Given the description of an element on the screen output the (x, y) to click on. 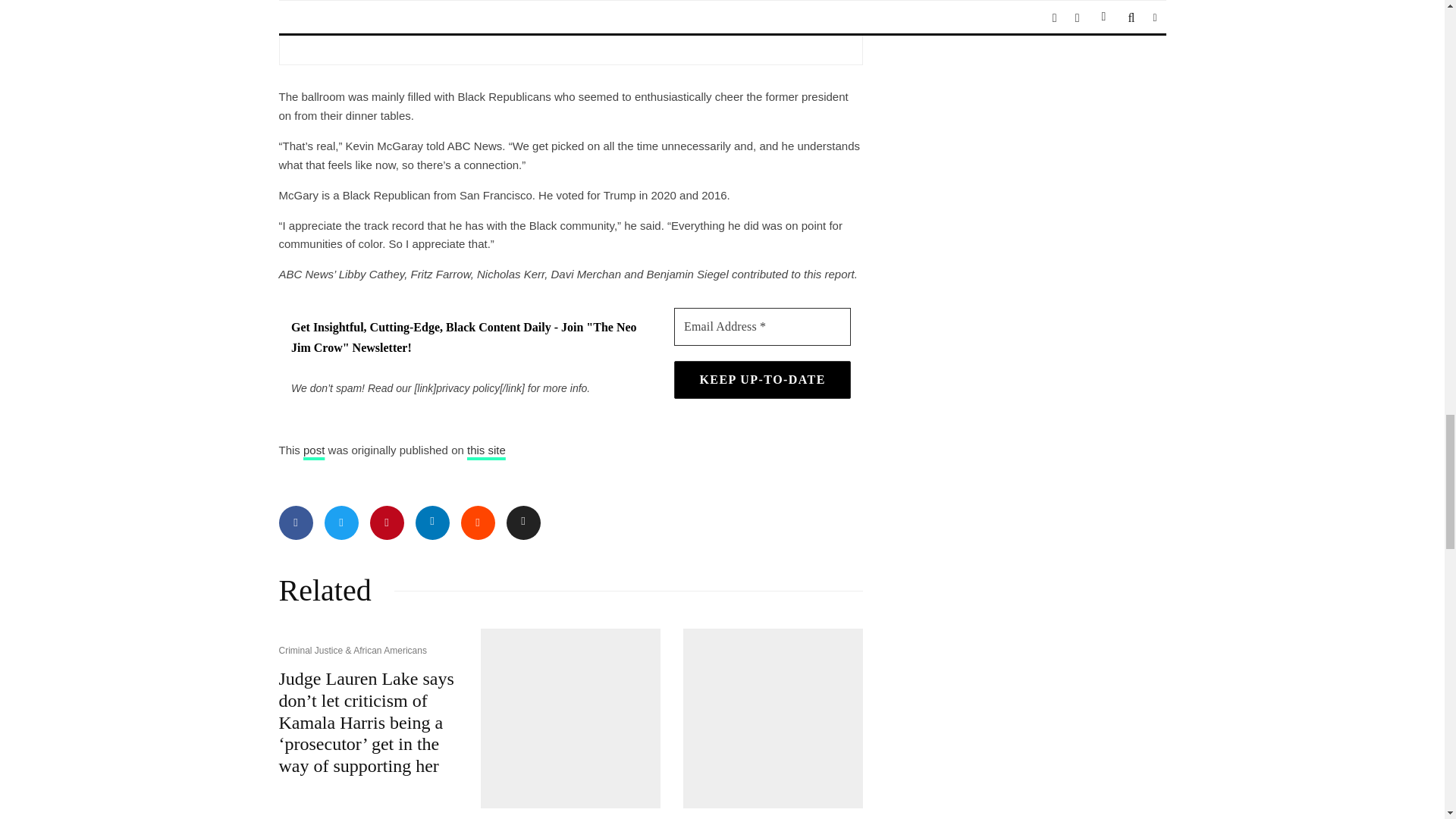
Email Address (761, 326)
Keep Up-to-date (761, 379)
post (313, 449)
Keep Up-to-date (761, 379)
this site (486, 449)
